Given the description of an element on the screen output the (x, y) to click on. 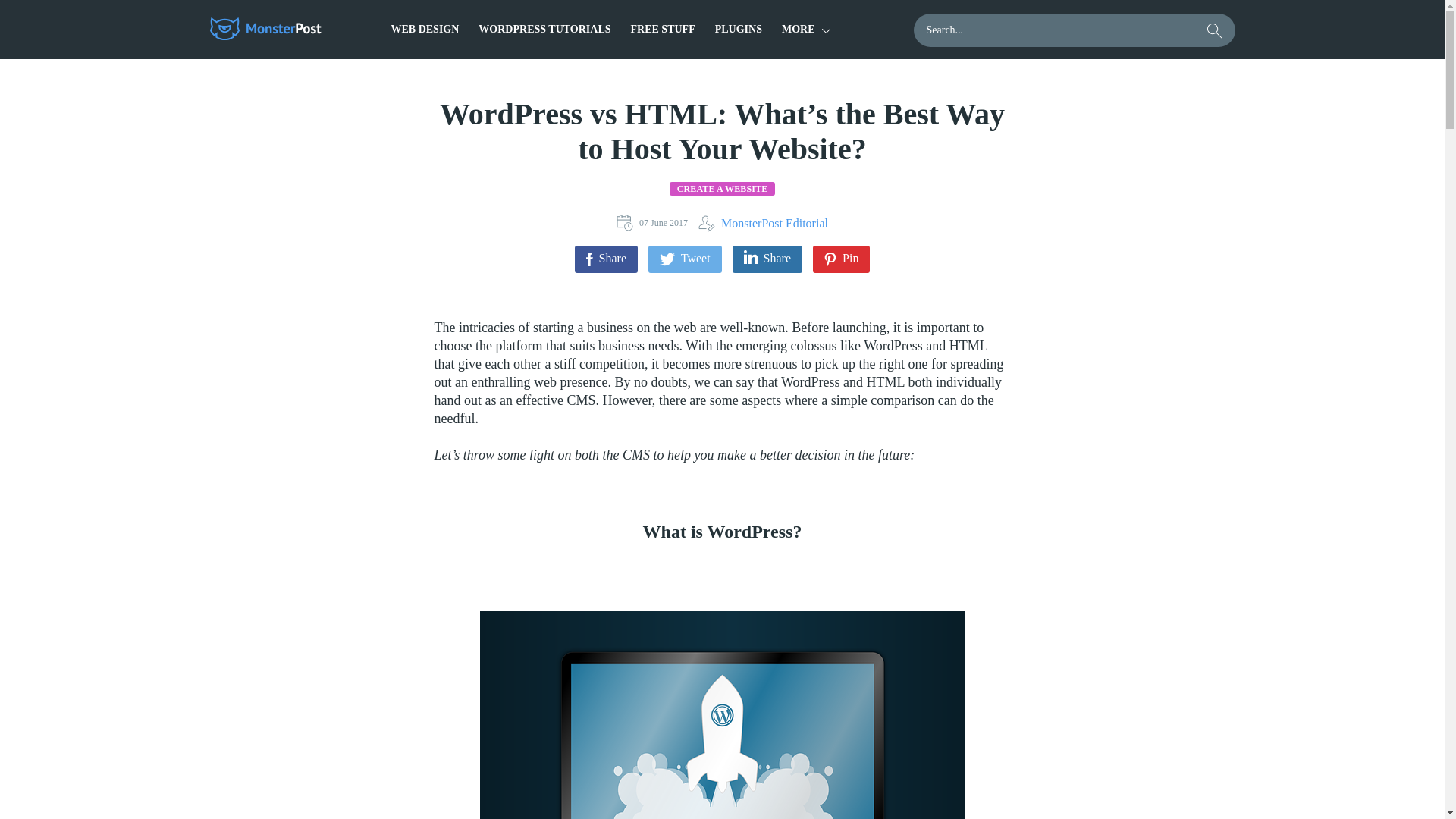
Tweet (684, 258)
PLUGINS (737, 29)
Share (767, 258)
FREE STUFF (662, 29)
Pin (840, 258)
Share (606, 258)
CREATE A WEBSITE (722, 188)
MonsterPost Editorial (763, 223)
WORDPRESS TUTORIALS (544, 29)
WEB DESIGN (425, 29)
